Given the description of an element on the screen output the (x, y) to click on. 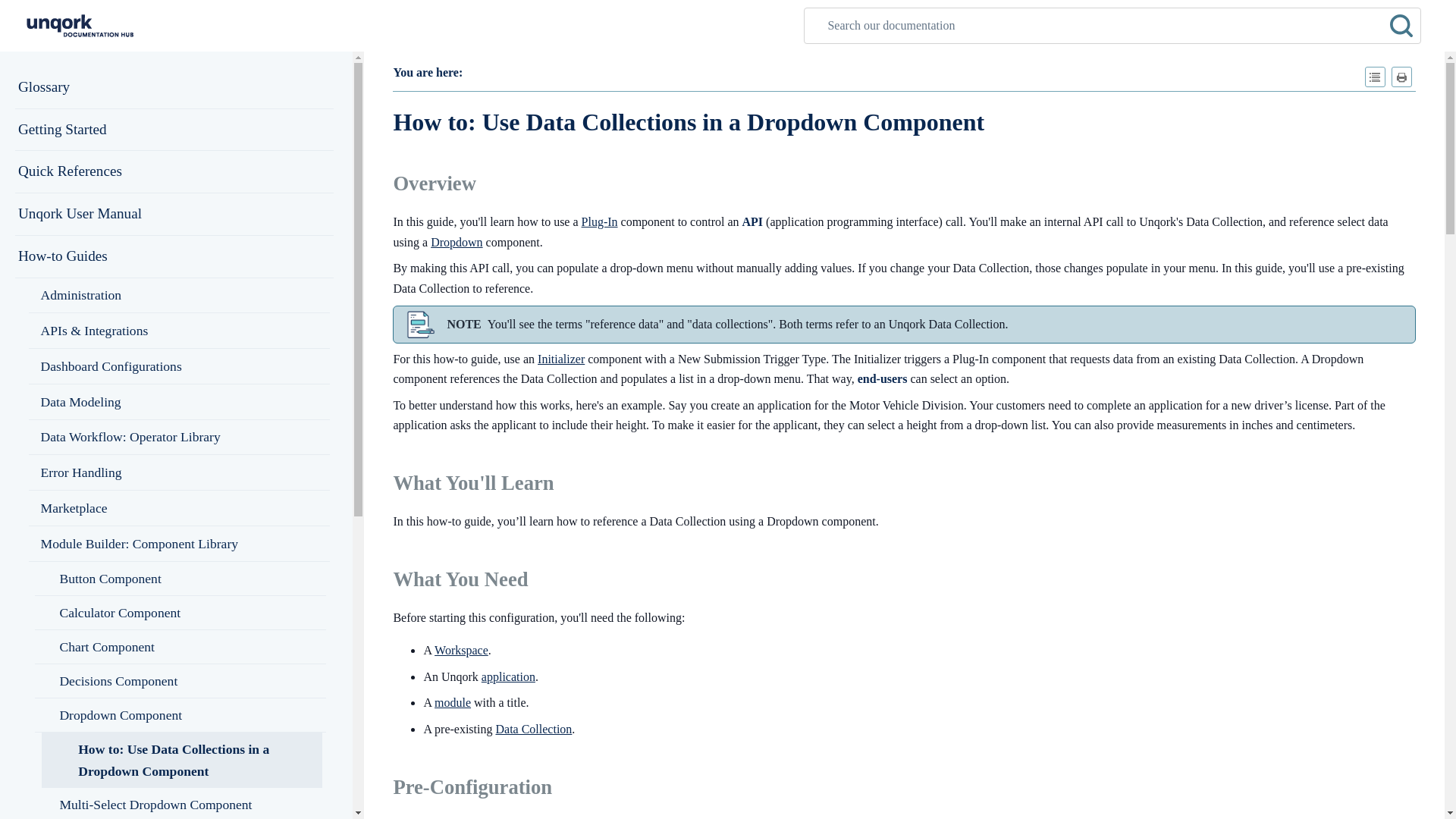
How to: Use Data Collections in a Dropdown Component (179, 295)
Glossary (181, 759)
Search (173, 256)
